Given the description of an element on the screen output the (x, y) to click on. 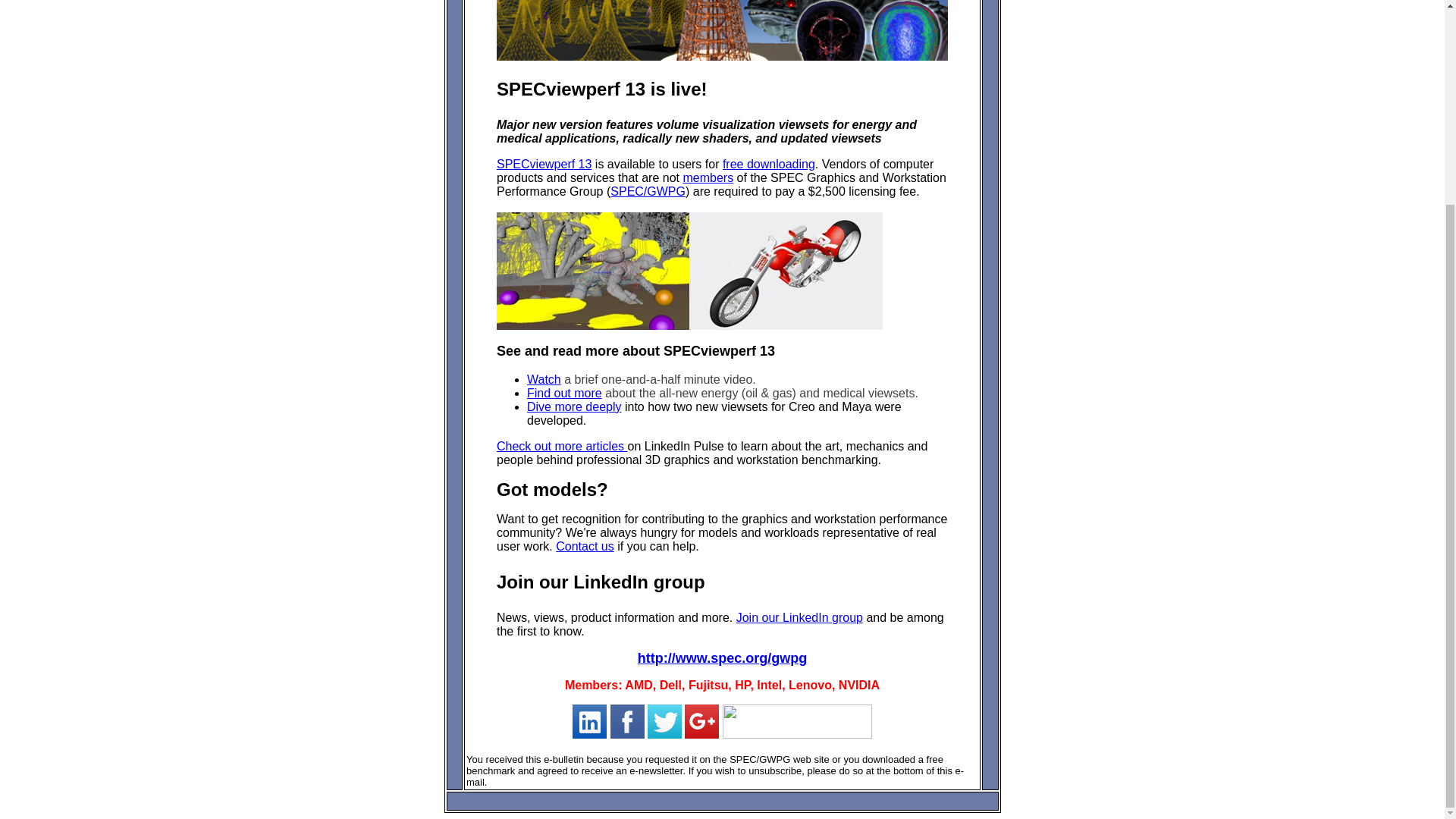
members (707, 177)
Check out more articles (561, 445)
Join our LinkedIn group (799, 617)
Dive more deeply (574, 406)
SPECviewperf 13 (543, 164)
Contact us (584, 545)
Watch (543, 379)
free downloading (768, 164)
Find out more (564, 392)
